Given the description of an element on the screen output the (x, y) to click on. 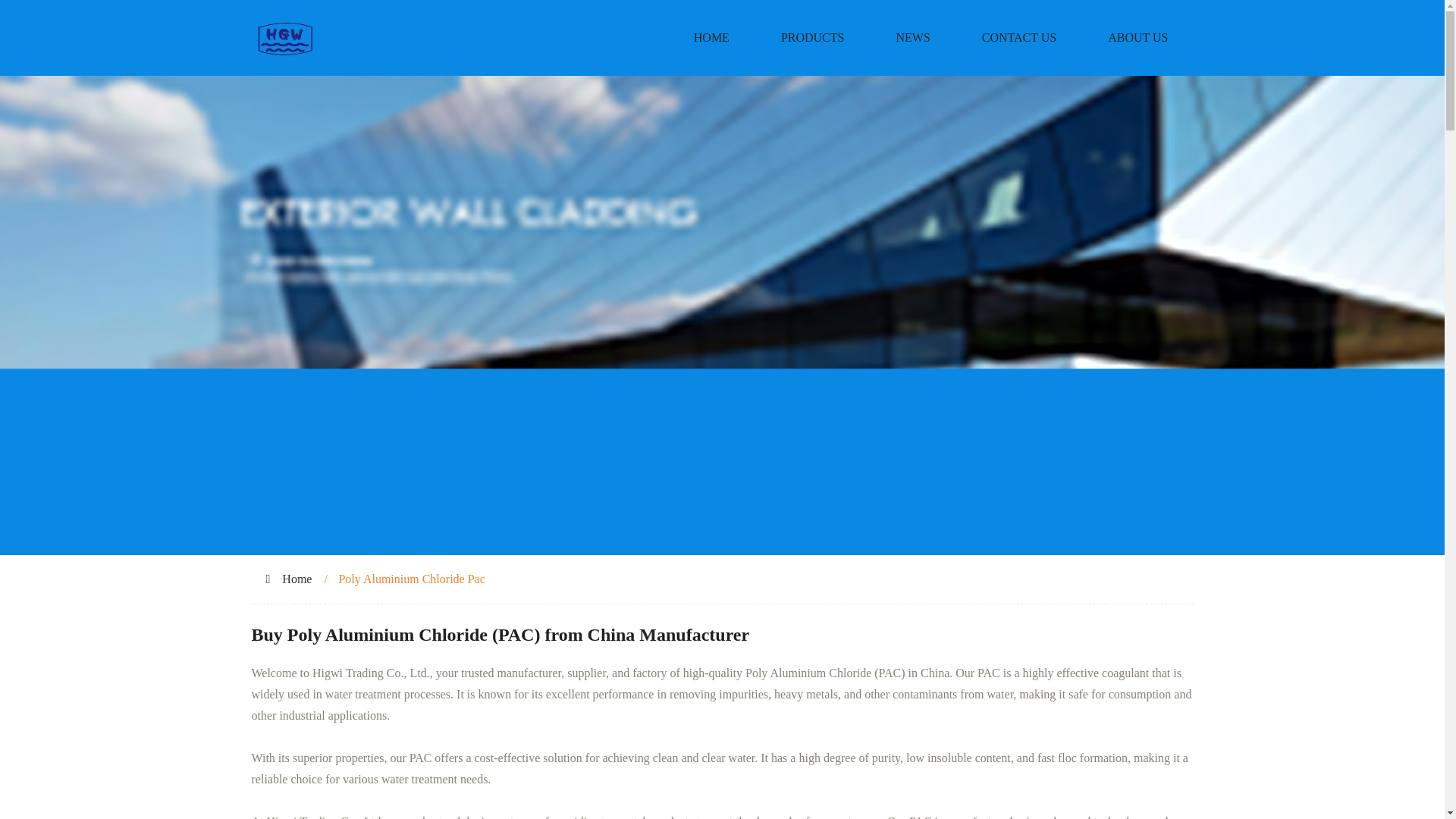
CONTACT US (1018, 38)
Home (296, 578)
PRODUCTS (812, 38)
ABOUT US (1137, 38)
HOME (711, 38)
NEWS (912, 38)
